Given the description of an element on the screen output the (x, y) to click on. 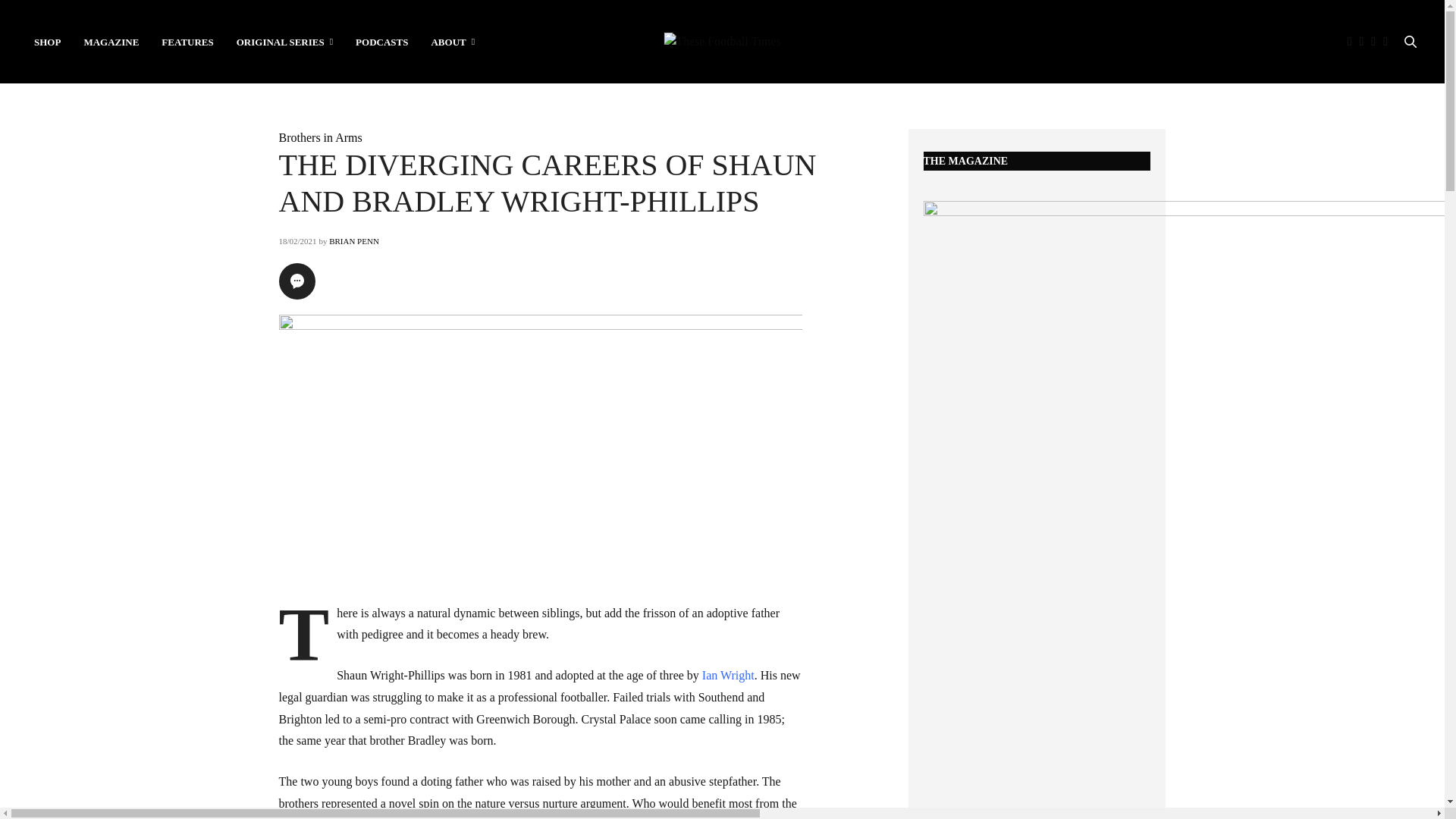
FEATURES (186, 41)
Posts by Brian Penn (353, 240)
These Football Times (721, 41)
MAGAZINE (110, 41)
ORIGINAL SERIES (284, 41)
